Given the description of an element on the screen output the (x, y) to click on. 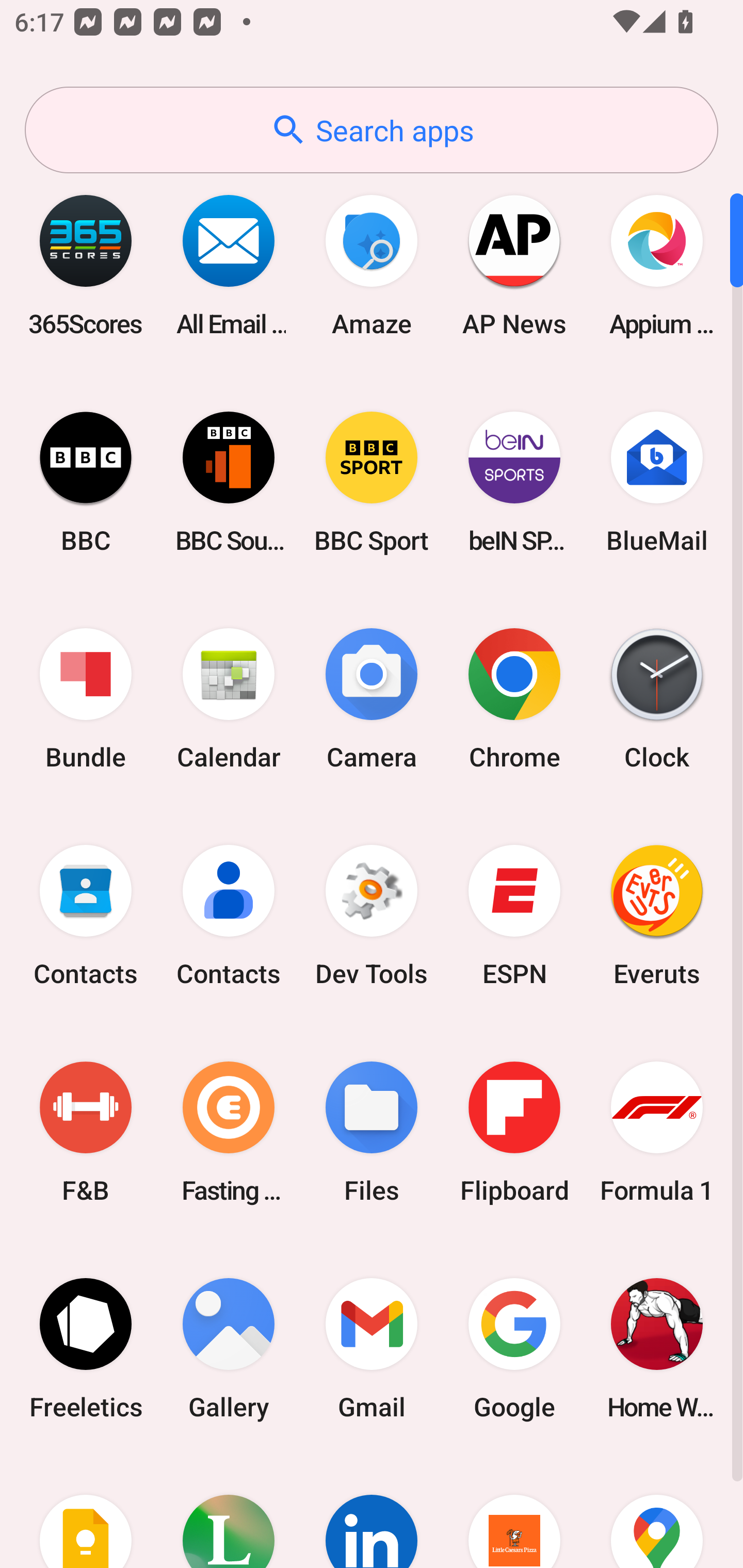
  Search apps (371, 130)
365Scores (85, 264)
All Email Connect (228, 264)
Amaze (371, 264)
AP News (514, 264)
Appium Settings (656, 264)
BBC (85, 482)
BBC Sounds (228, 482)
BBC Sport (371, 482)
beIN SPORTS (514, 482)
BlueMail (656, 482)
Bundle (85, 699)
Calendar (228, 699)
Camera (371, 699)
Chrome (514, 699)
Clock (656, 699)
Contacts (85, 915)
Contacts (228, 915)
Dev Tools (371, 915)
ESPN (514, 915)
Everuts (656, 915)
F&B (85, 1131)
Fasting Coach (228, 1131)
Files (371, 1131)
Flipboard (514, 1131)
Formula 1 (656, 1131)
Freeletics (85, 1348)
Gallery (228, 1348)
Gmail (371, 1348)
Google (514, 1348)
Home Workout (656, 1348)
Keep Notes (85, 1512)
Lifesum (228, 1512)
LinkedIn (371, 1512)
Little Caesars Pizza (514, 1512)
Maps (656, 1512)
